Given the description of an element on the screen output the (x, y) to click on. 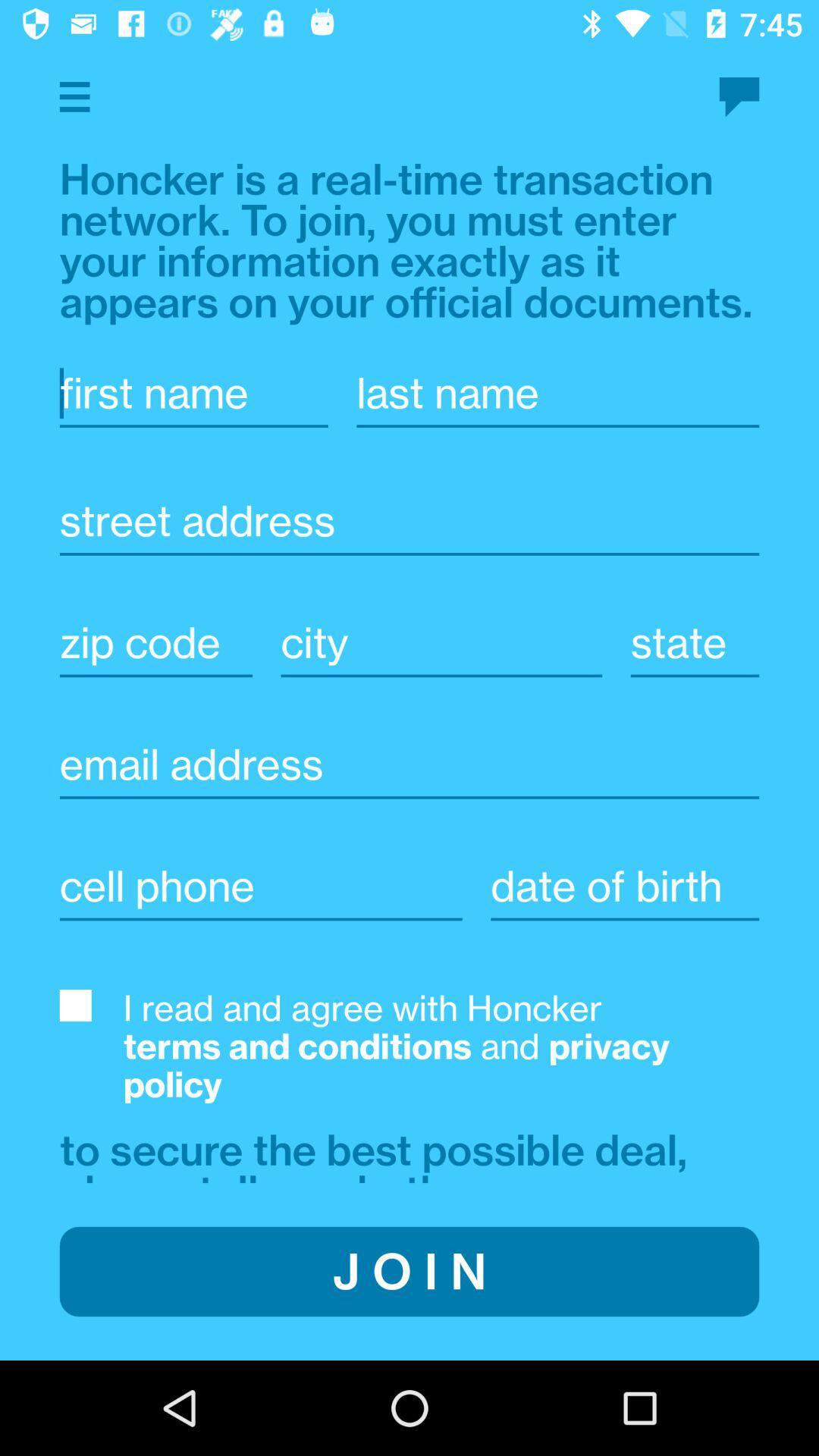
enter street adress (409, 520)
